Given the description of an element on the screen output the (x, y) to click on. 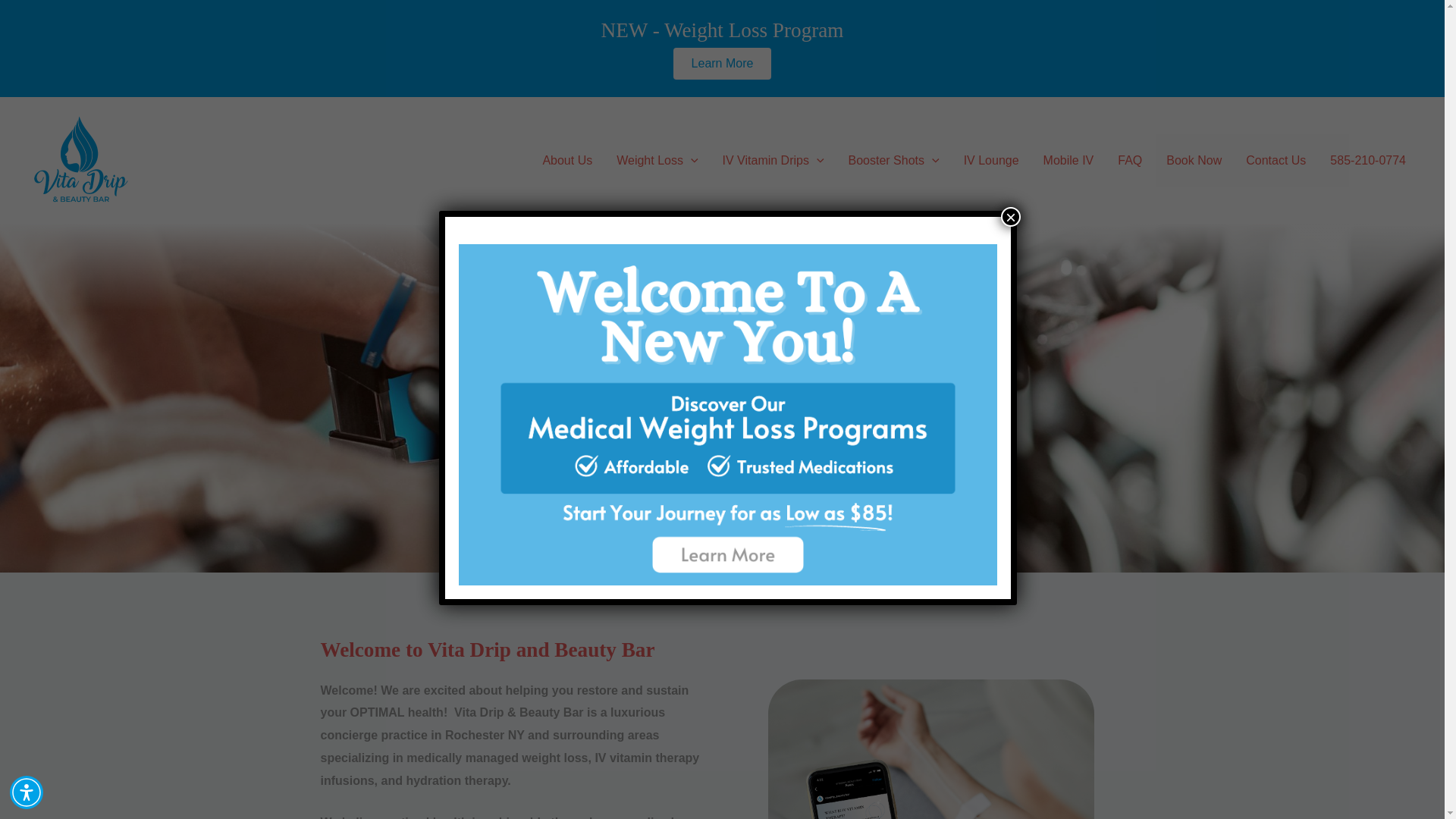
IV Vitamin Drips (772, 160)
Contact Us (1275, 160)
Mobile IV (1068, 160)
585-210-0774 (1367, 160)
About Us (566, 160)
Book Now (1193, 160)
Learn More (721, 63)
IV Lounge (991, 160)
Weight Loss (657, 160)
FAQ (1129, 160)
Booster Shots (893, 160)
Accessibility Menu (26, 792)
Mobile IV Services (930, 749)
